Given the description of an element on the screen output the (x, y) to click on. 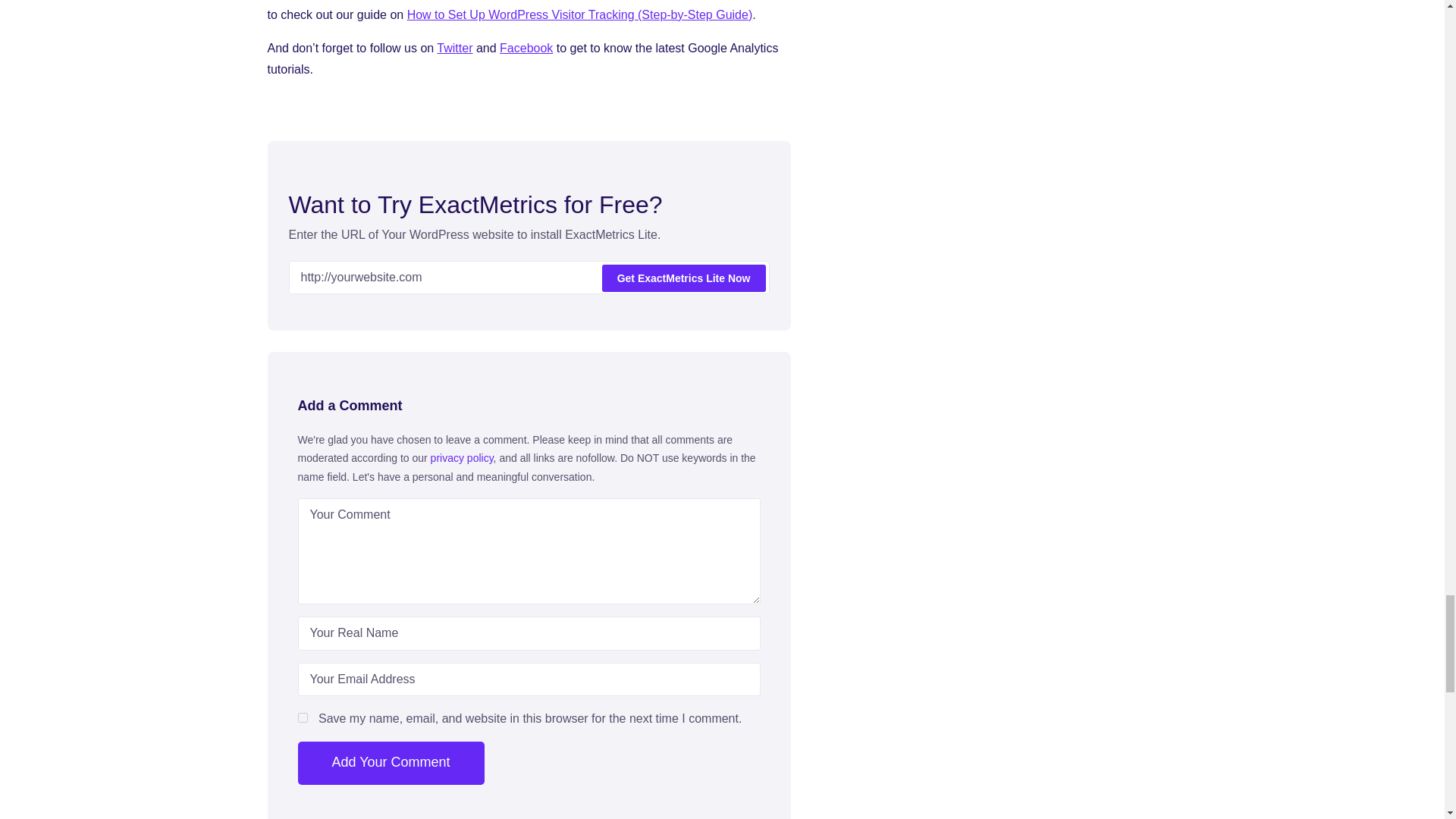
Privacy Policy (461, 458)
yes (302, 717)
Add Your Comment (390, 763)
